Given the description of an element on the screen output the (x, y) to click on. 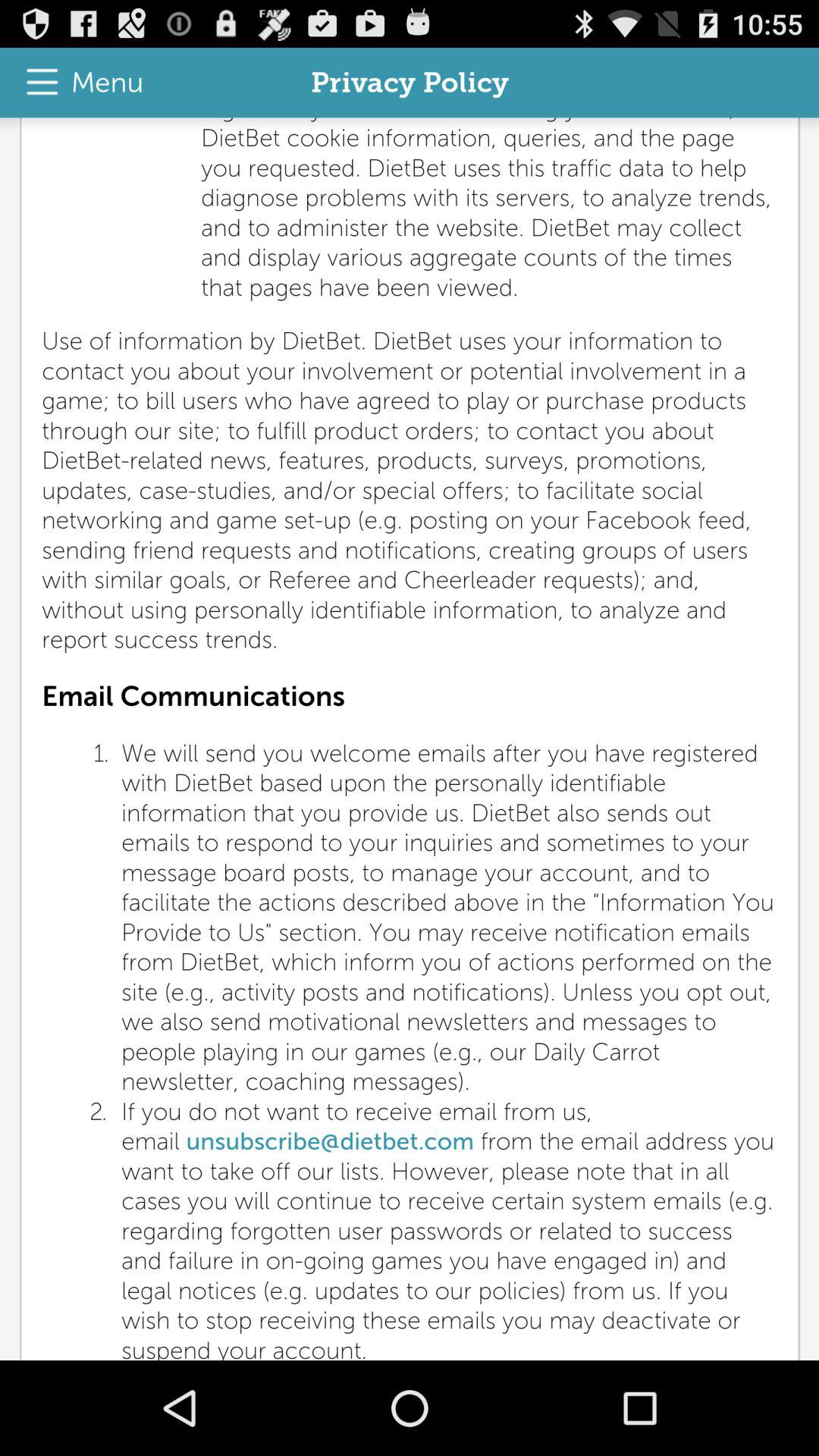
turn off the item at the center (409, 738)
